Given the description of an element on the screen output the (x, y) to click on. 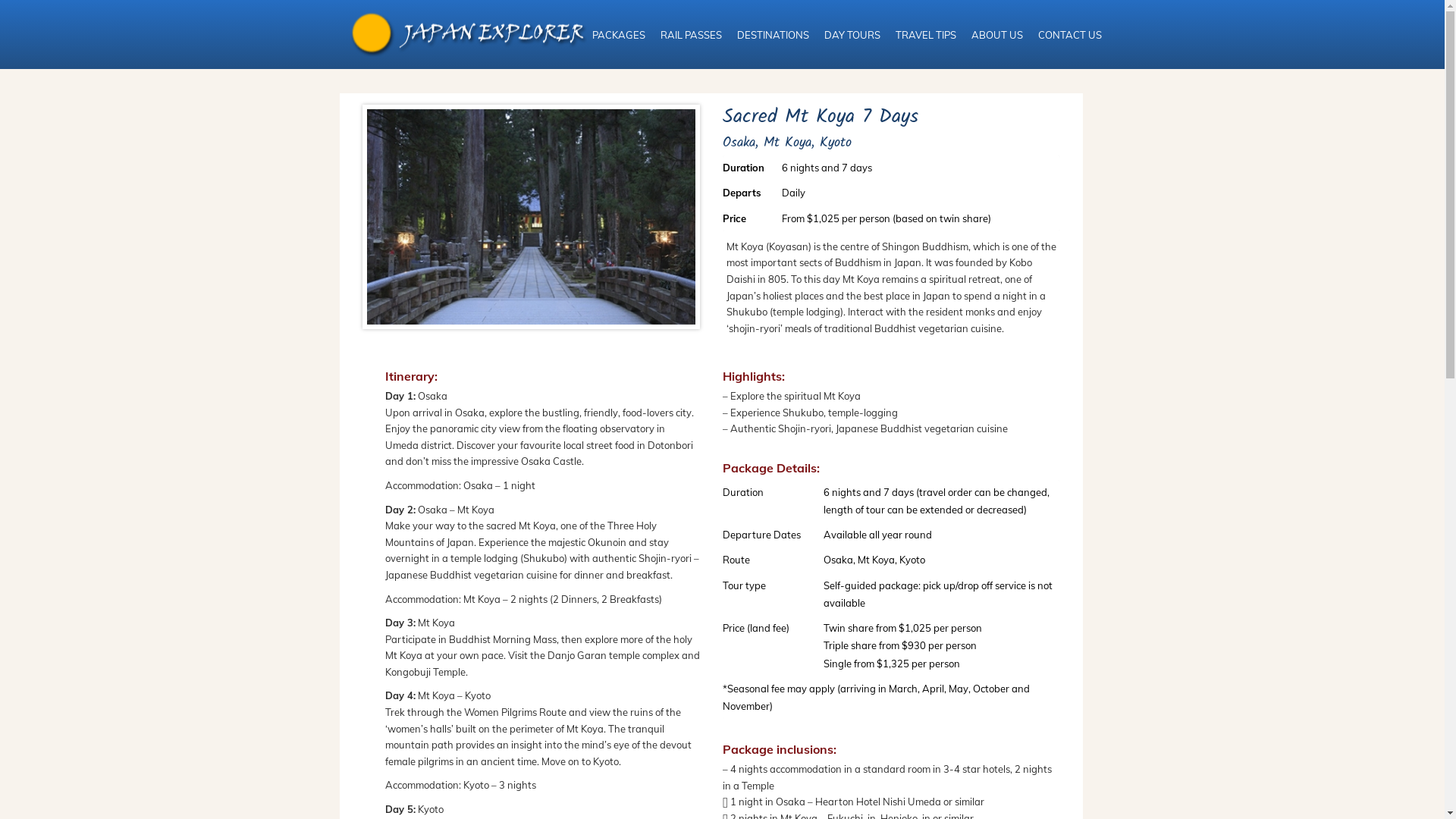
TRAVEL TIPS Element type: text (925, 34)
DAY TOURS Element type: text (851, 34)
ABOUT US Element type: text (996, 34)
CONTACT US Element type: text (1068, 34)
RAIL PASSES Element type: text (690, 34)
PACKAGES Element type: text (617, 34)
sacred-mt-koya-7-days-image Element type: hover (531, 216)
Japan holiday expert and Japan rail pass specialist Element type: hover (468, 34)
DESTINATIONS Element type: text (772, 34)
